Given the description of an element on the screen output the (x, y) to click on. 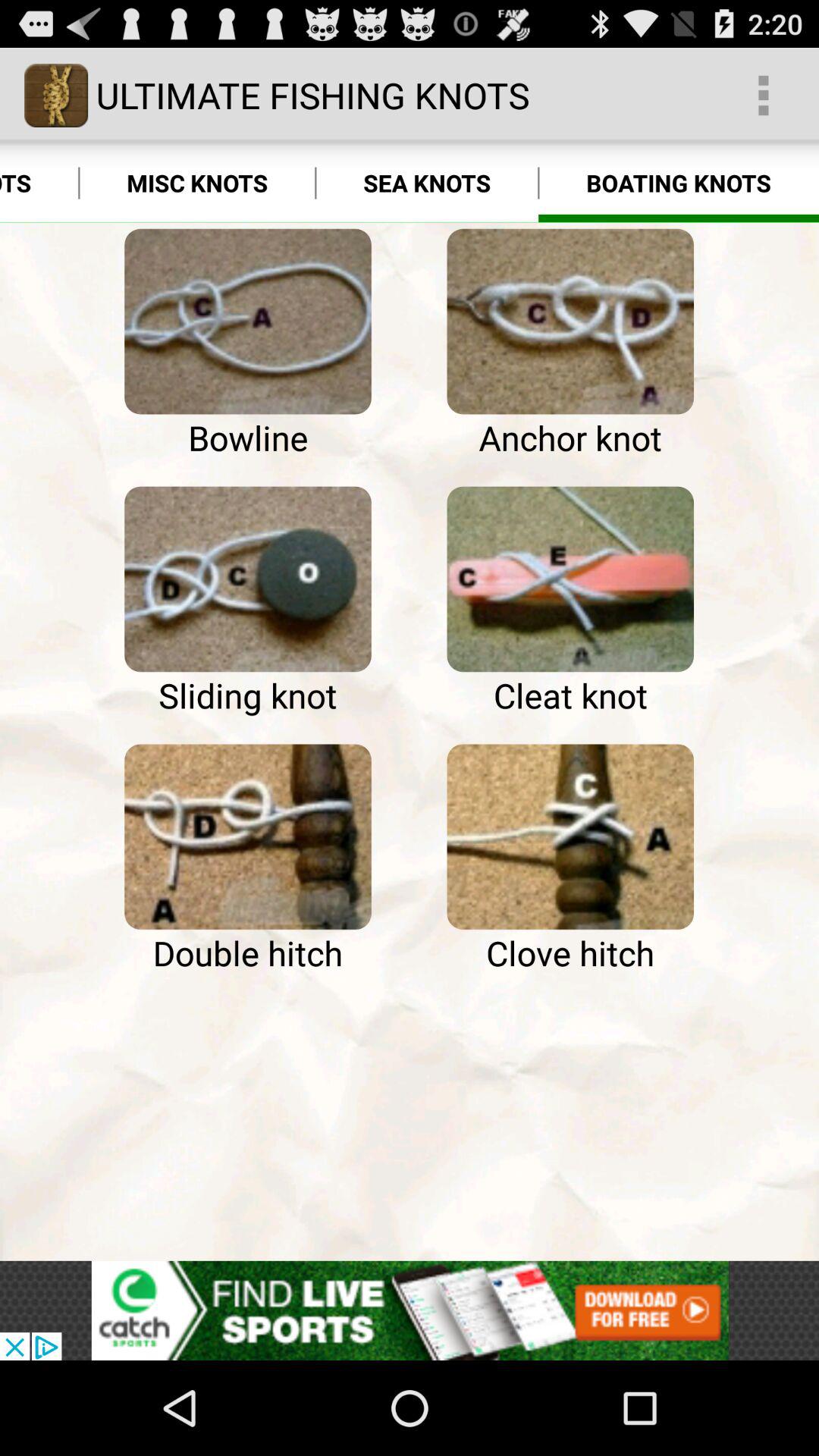
select option (247, 836)
